Given the description of an element on the screen output the (x, y) to click on. 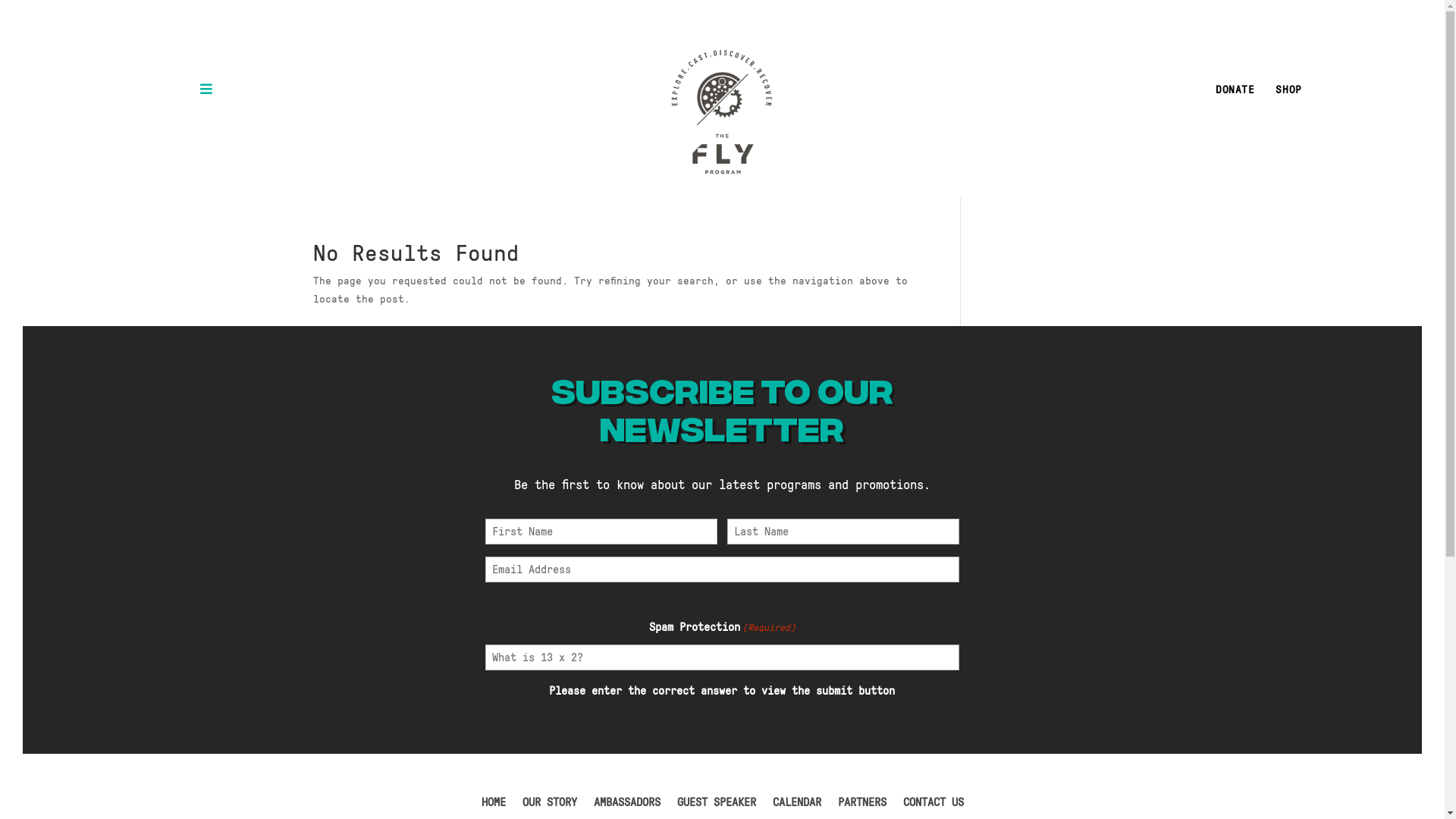
CALENDAR Element type: text (795, 805)
HOME Element type: text (492, 805)
AMBASSADORS Element type: text (626, 805)
Logo Element type: hover (721, 112)
SHOP Element type: text (1287, 89)
GUEST SPEAKER Element type: text (715, 805)
OUR STORY Element type: text (548, 805)
CONTACT US Element type: text (932, 805)
SUBMIT Element type: text (25, 10)
PARTNERS Element type: text (861, 805)
DONATE Element type: text (1234, 89)
PROGRAMS Element type: text (257, 89)
